Given the description of an element on the screen output the (x, y) to click on. 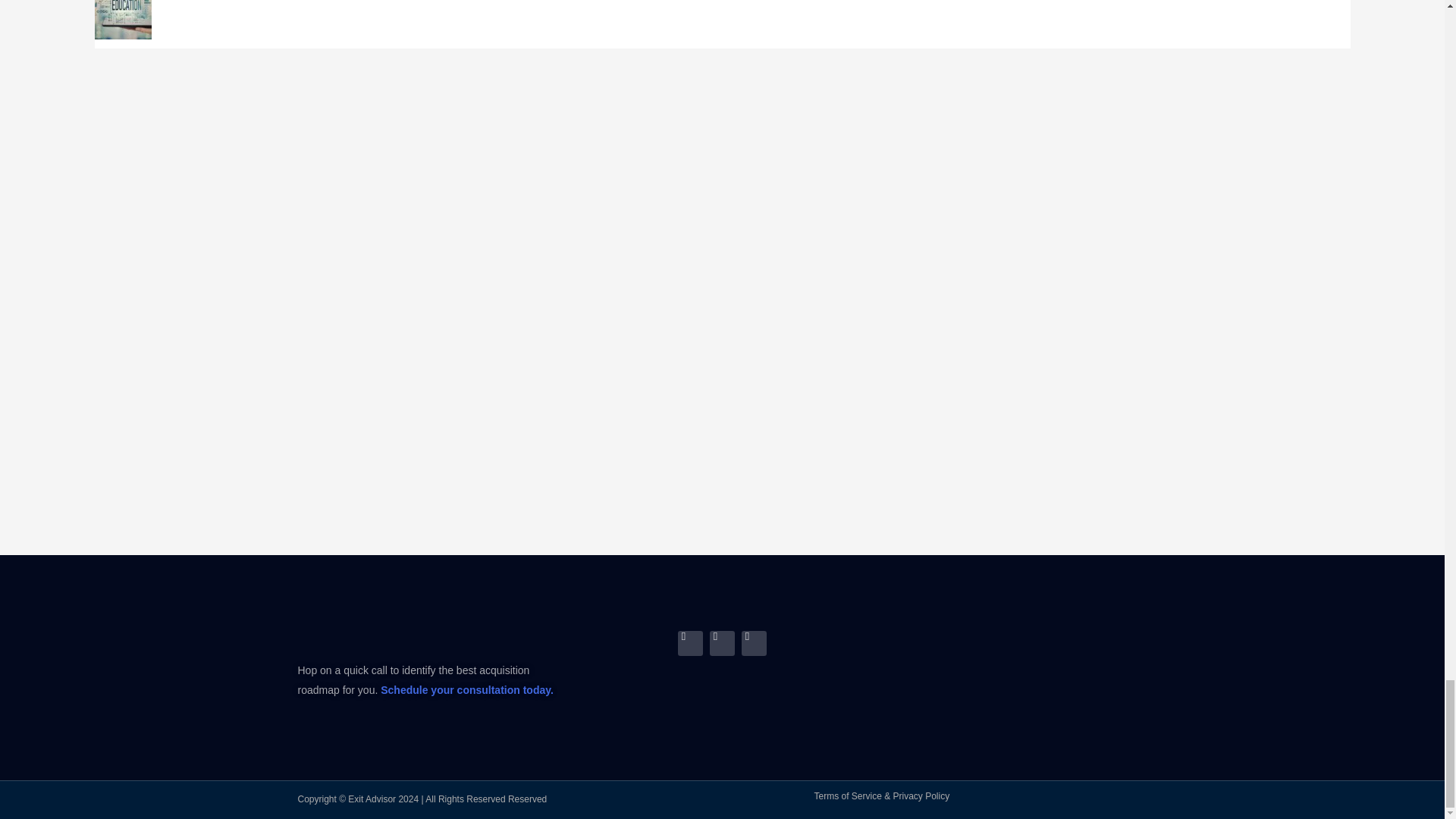
Linkedin (690, 643)
Schedule your consultation today. (466, 689)
